Given the description of an element on the screen output the (x, y) to click on. 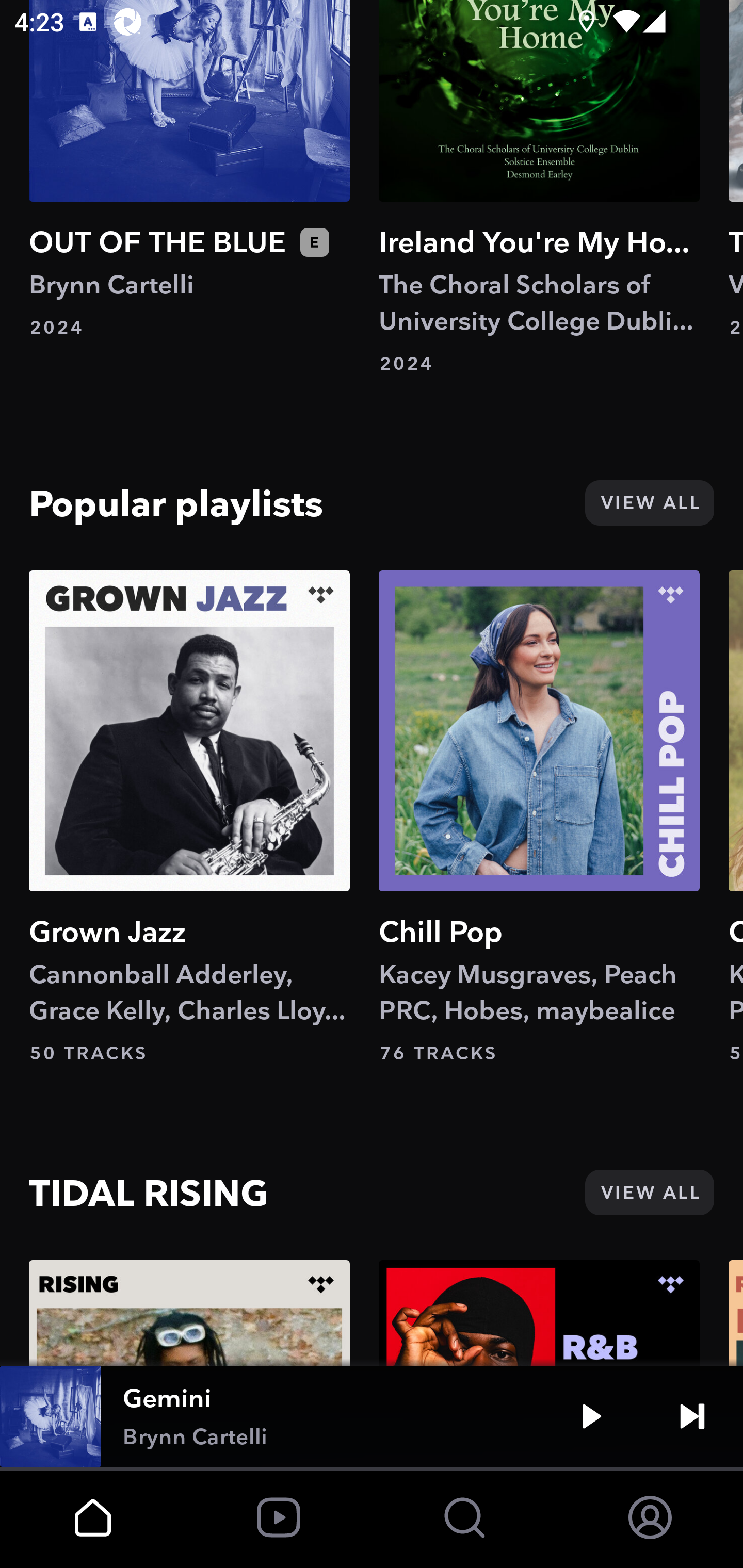
OUT OF THE BLUE Brynn Cartelli 2024 (188, 169)
VIEW ALL (649, 502)
VIEW ALL (649, 1192)
Gemini Brynn Cartelli Play (371, 1416)
Play (590, 1416)
